Given the description of an element on the screen output the (x, y) to click on. 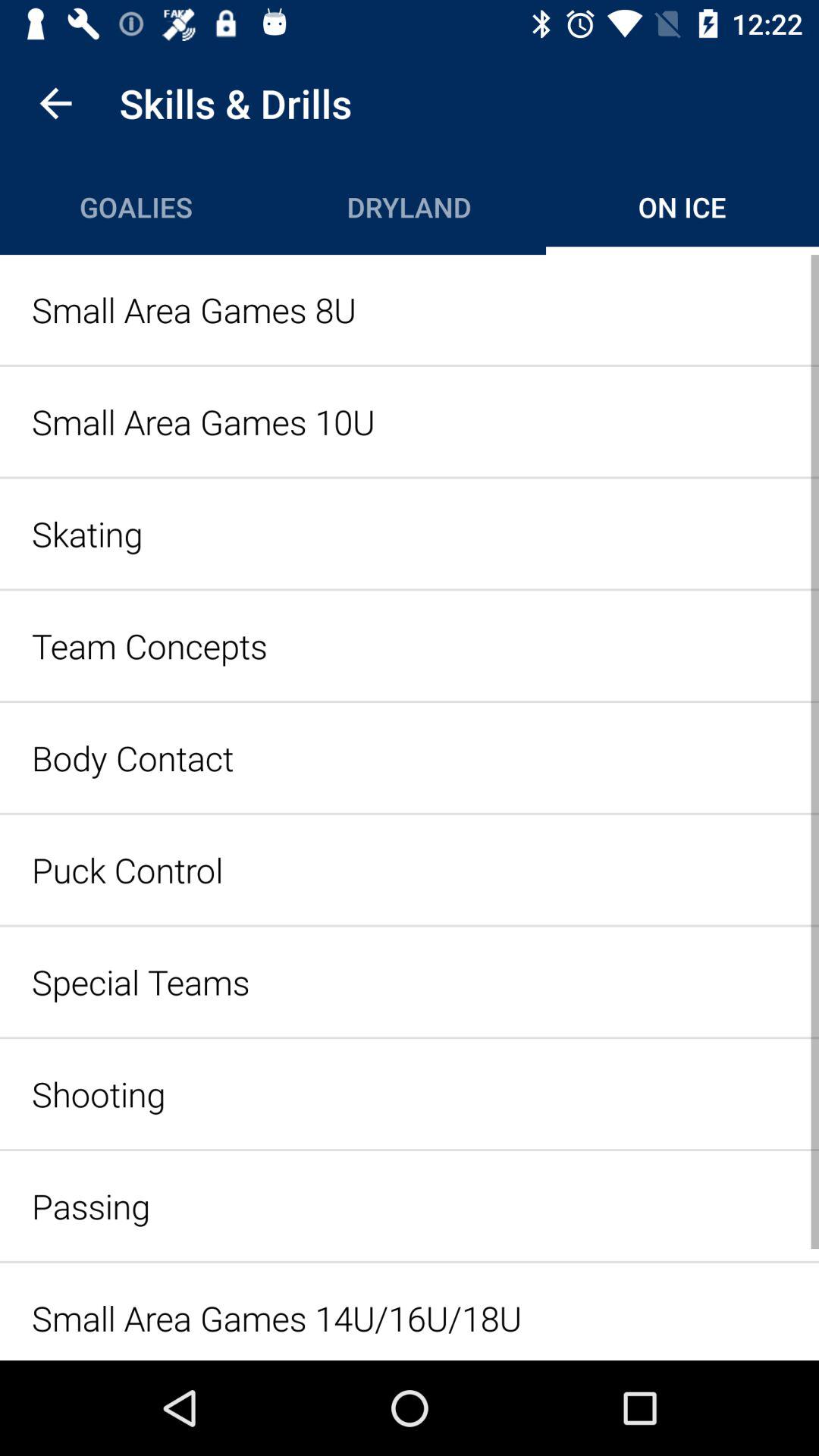
choose the item below the skating icon (409, 645)
